Given the description of an element on the screen output the (x, y) to click on. 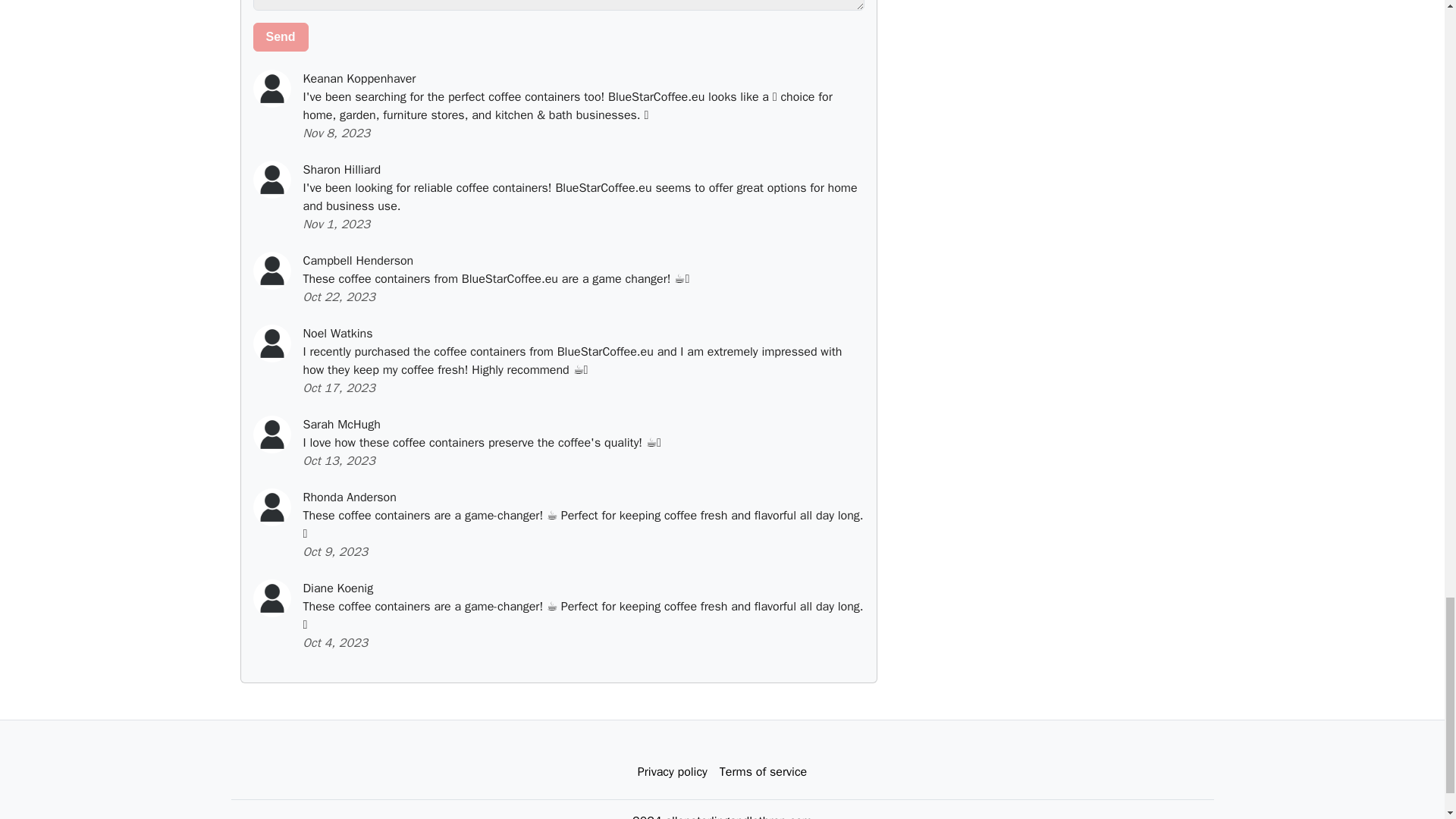
Send (280, 36)
Privacy policy (672, 771)
Send (280, 36)
Terms of service (762, 771)
